Given the description of an element on the screen output the (x, y) to click on. 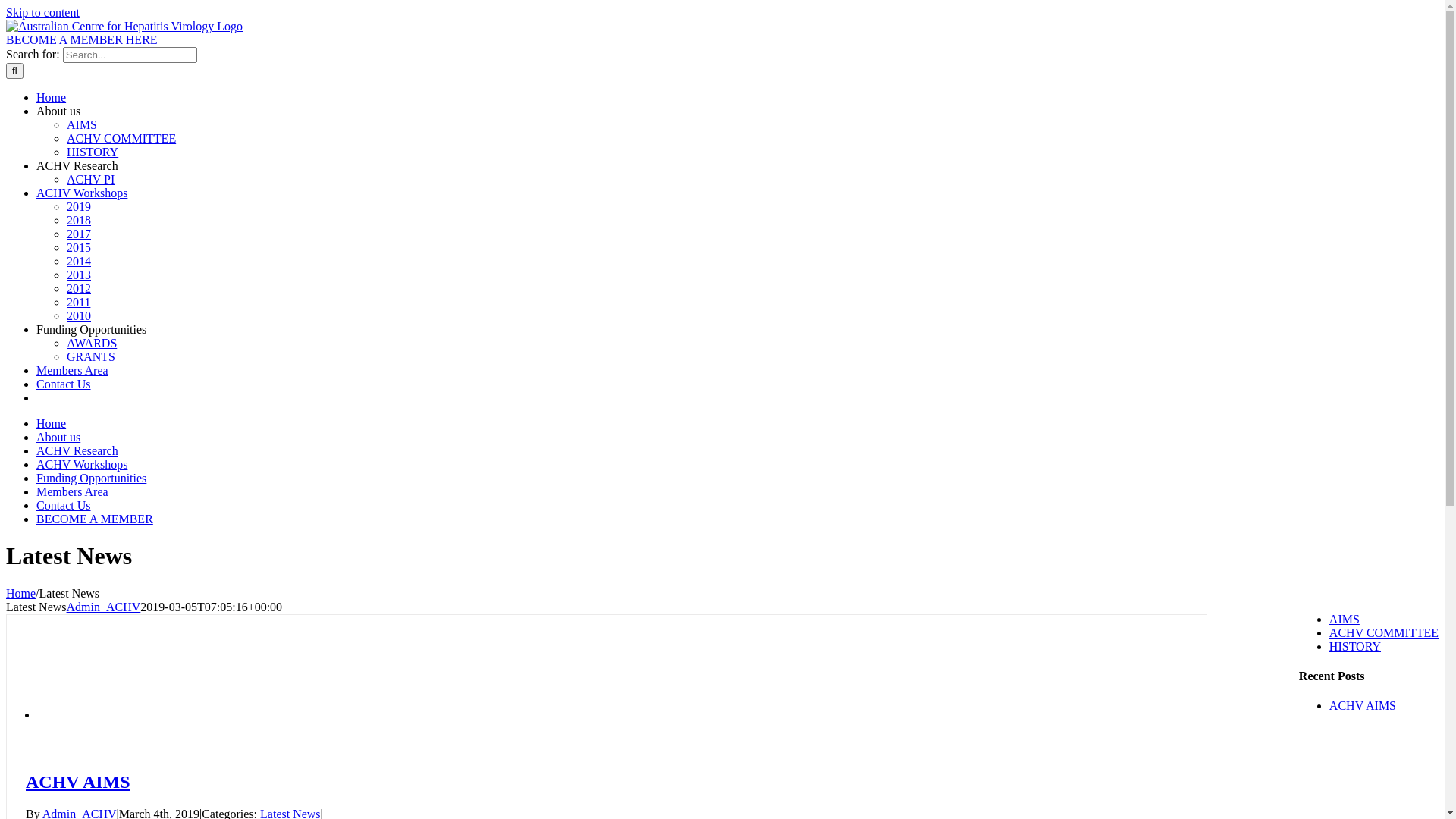
About us Element type: text (58, 436)
ACHV COMMITTEE Element type: text (1383, 632)
ACHV AIMS Element type: text (1362, 705)
2010 Element type: text (78, 315)
Members Area Element type: text (72, 491)
About us Element type: text (58, 110)
AWARDS Element type: text (91, 342)
2018 Element type: text (78, 219)
Contact Us Element type: text (63, 383)
HISTORY Element type: text (1354, 646)
Skip to content Element type: text (42, 12)
BECOME A MEMBER HERE Element type: text (81, 39)
Admin_ACHV Element type: text (103, 606)
Contact Us Element type: text (63, 504)
2012 Element type: text (78, 288)
BECOME A MEMBER Element type: text (94, 518)
2019 Element type: text (78, 206)
2014 Element type: text (78, 260)
ACHV PI Element type: text (90, 178)
2013 Element type: text (78, 274)
ACHV Workshops Element type: text (81, 192)
Members Area Element type: text (72, 370)
AIMS Element type: text (1344, 618)
AIMS Element type: text (81, 124)
ACHV AIMS Element type: text (77, 781)
ACHV COMMITTEE Element type: text (120, 137)
ACHV Research Element type: text (77, 165)
HISTORY Element type: text (92, 151)
Home Element type: text (50, 423)
GRANTS Element type: text (90, 356)
Funding Opportunities Element type: text (91, 329)
2011 Element type: text (78, 301)
2017 Element type: text (78, 233)
Home Element type: text (20, 592)
2015 Element type: text (78, 247)
Home Element type: text (50, 97)
ACHV Research Element type: text (77, 450)
ACHV Workshops Element type: text (81, 464)
Funding Opportunities Element type: text (91, 477)
